Given the description of an element on the screen output the (x, y) to click on. 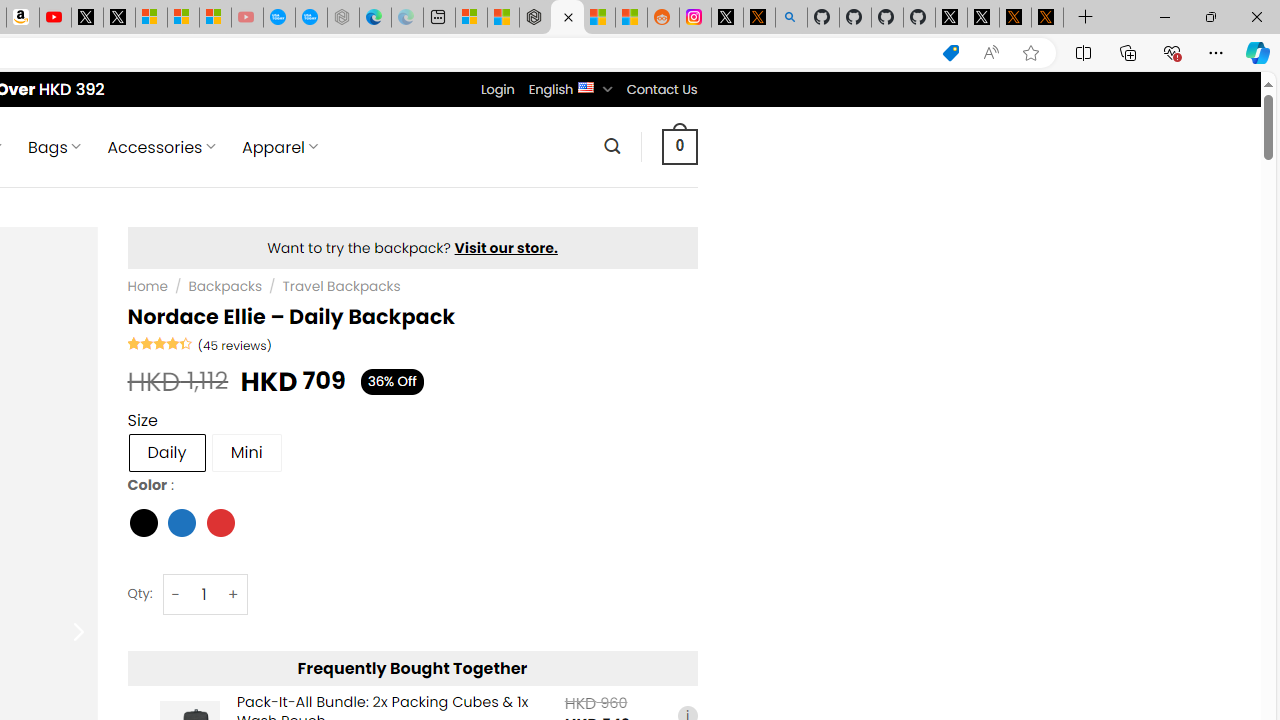
Opinion: Op-Ed and Commentary - USA TODAY (279, 17)
  0   (679, 146)
help.x.com | 524: A timeout occurred (758, 17)
Backpacks (225, 286)
Log in to X / X (727, 17)
